Given the description of an element on the screen output the (x, y) to click on. 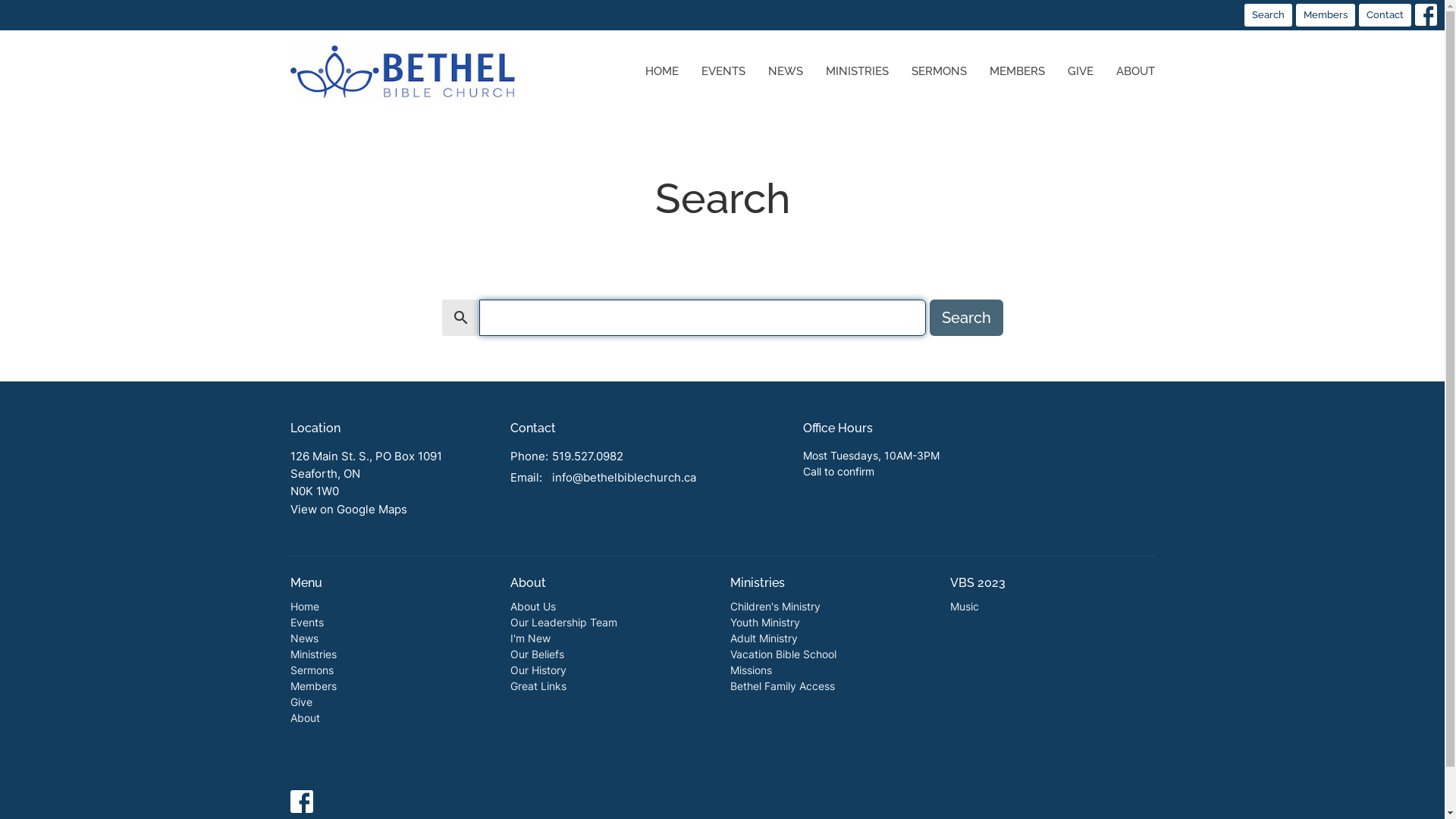
I'm New Element type: text (529, 637)
Music Element type: text (963, 605)
News Element type: text (303, 637)
Sermons Element type: text (310, 669)
NEWS Element type: text (784, 71)
HOME Element type: text (660, 71)
Home Element type: text (303, 605)
Our History Element type: text (537, 669)
Contact Element type: text (1384, 14)
Members Element type: text (312, 685)
Ministries Element type: text (312, 653)
info@bethelbiblechurch.ca Element type: text (624, 477)
About Us Element type: text (532, 605)
Our Leadership Team Element type: text (562, 621)
Children's Ministry Element type: text (774, 605)
Ministries Element type: text (756, 582)
Youth Ministry Element type: text (764, 621)
Missions Element type: text (750, 669)
About Element type: text (304, 717)
Our Beliefs Element type: text (536, 653)
View on Google Maps Element type: text (347, 509)
Search Element type: text (1268, 14)
Bethel Family Access Element type: text (781, 685)
VBS 2023 Element type: text (976, 582)
Adult Ministry Element type: text (763, 637)
ABOUT Element type: text (1135, 71)
EVENTS Element type: text (722, 71)
Vacation Bible School Element type: text (782, 653)
519.527.0982 Element type: text (587, 455)
Give Element type: text (300, 701)
Great Links Element type: text (537, 685)
MEMBERS Element type: text (1016, 71)
Events Element type: text (306, 621)
Search Element type: text (966, 317)
GIVE Element type: text (1080, 71)
SERMONS Element type: text (938, 71)
MINISTRIES Element type: text (856, 71)
Members Element type: text (1325, 14)
